Given the description of an element on the screen output the (x, y) to click on. 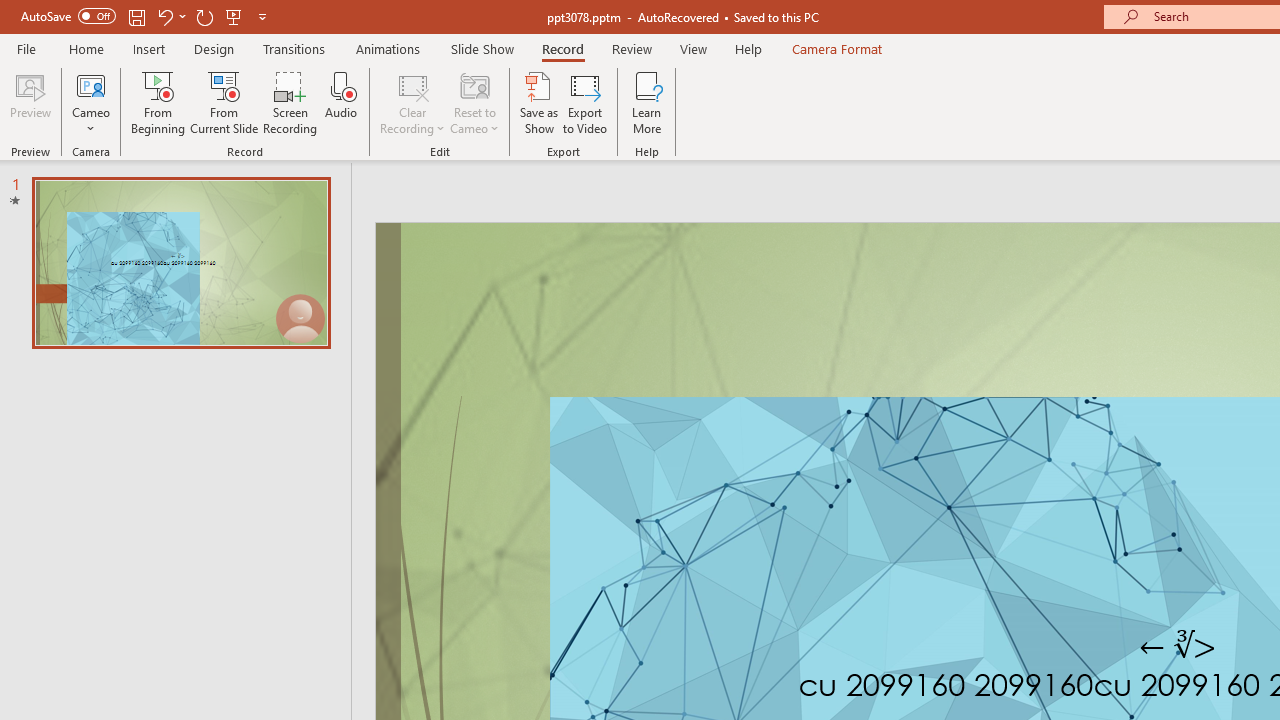
From Beginning... (158, 102)
Screen Recording (290, 102)
Learn More (646, 102)
